Given the description of an element on the screen output the (x, y) to click on. 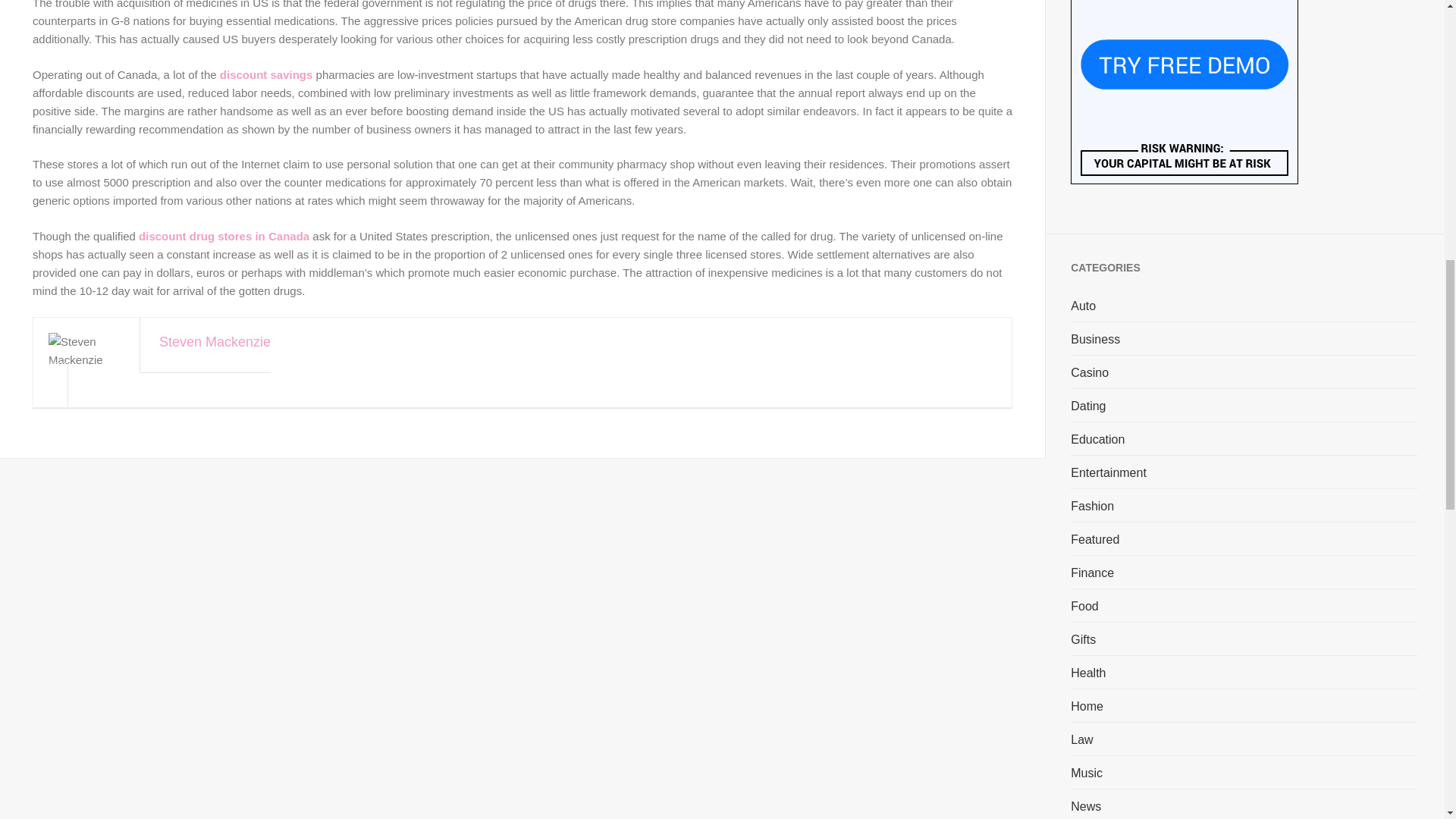
Business (1094, 338)
discount savings (266, 74)
Auto (1083, 305)
Home (1086, 705)
Finance (1091, 572)
Food (1083, 605)
Fashion (1091, 505)
Dating (1087, 405)
discount drug stores in Canada (223, 235)
Casino (1089, 371)
